Given the description of an element on the screen output the (x, y) to click on. 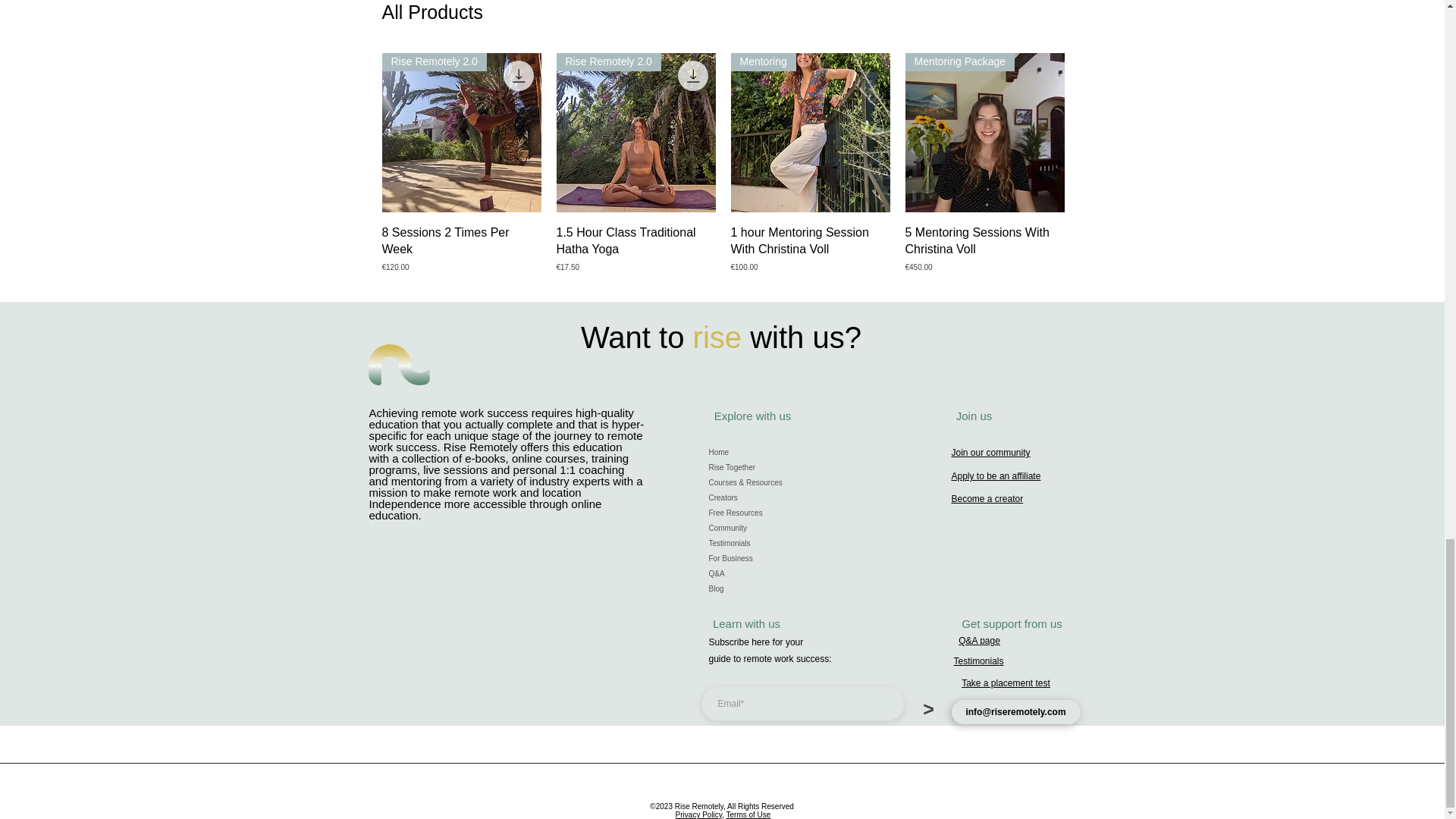
Rise Remotely 2.0 (636, 132)
Mentoring (809, 132)
Rise Remotely 2.0 (461, 132)
Mentoring Package (984, 132)
